Given the description of an element on the screen output the (x, y) to click on. 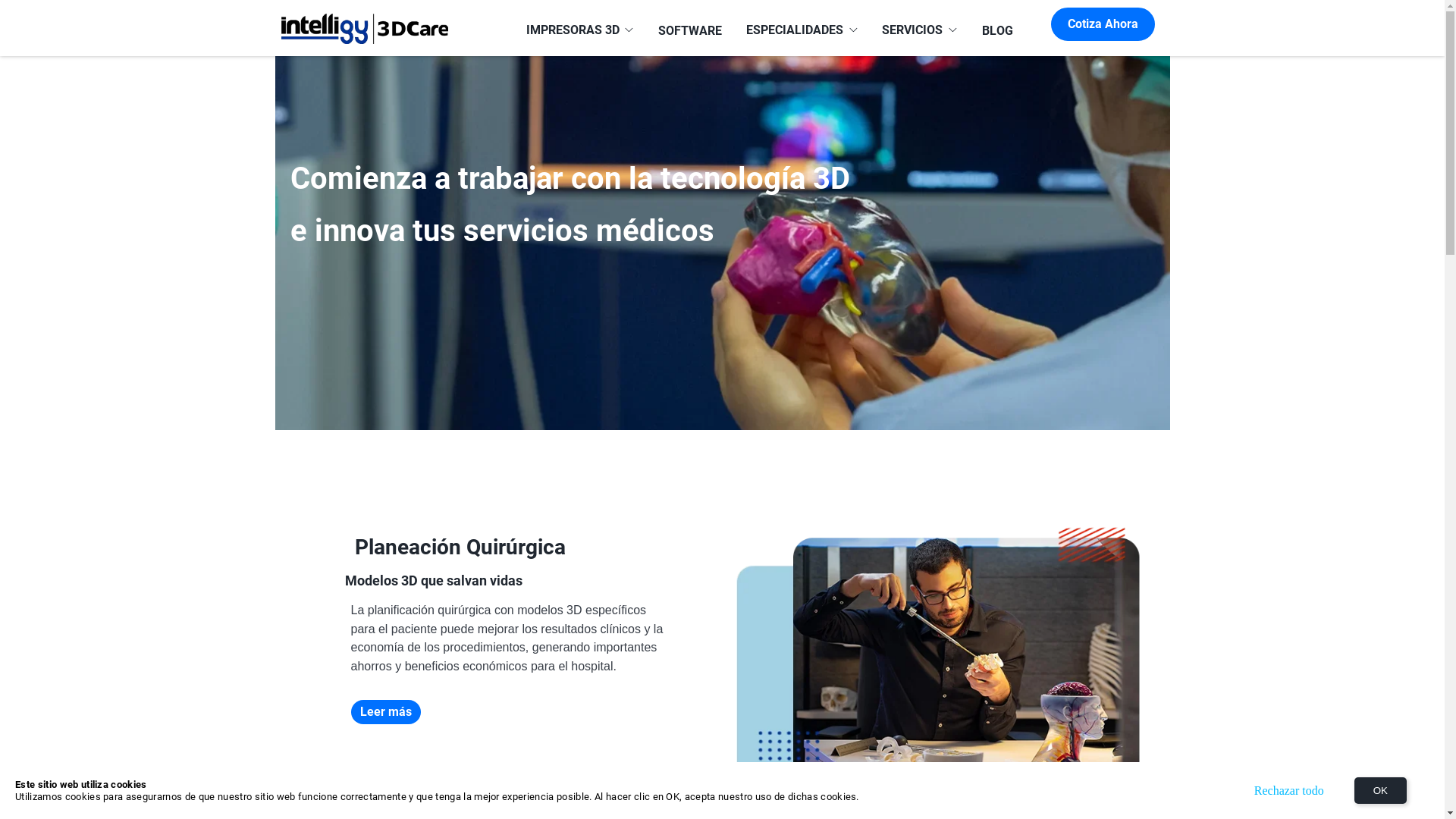
OK Element type: text (1380, 790)
SERVICIOS Element type: text (919, 30)
BLOG Element type: text (996, 30)
IMPRESORAS 3D Element type: text (580, 30)
Cotiza Ahora Element type: text (1102, 23)
ESPECIALIDADES Element type: text (801, 30)
Rechazar todo Element type: text (1289, 790)
SOFTWARE Element type: text (690, 30)
